Given the description of an element on the screen output the (x, y) to click on. 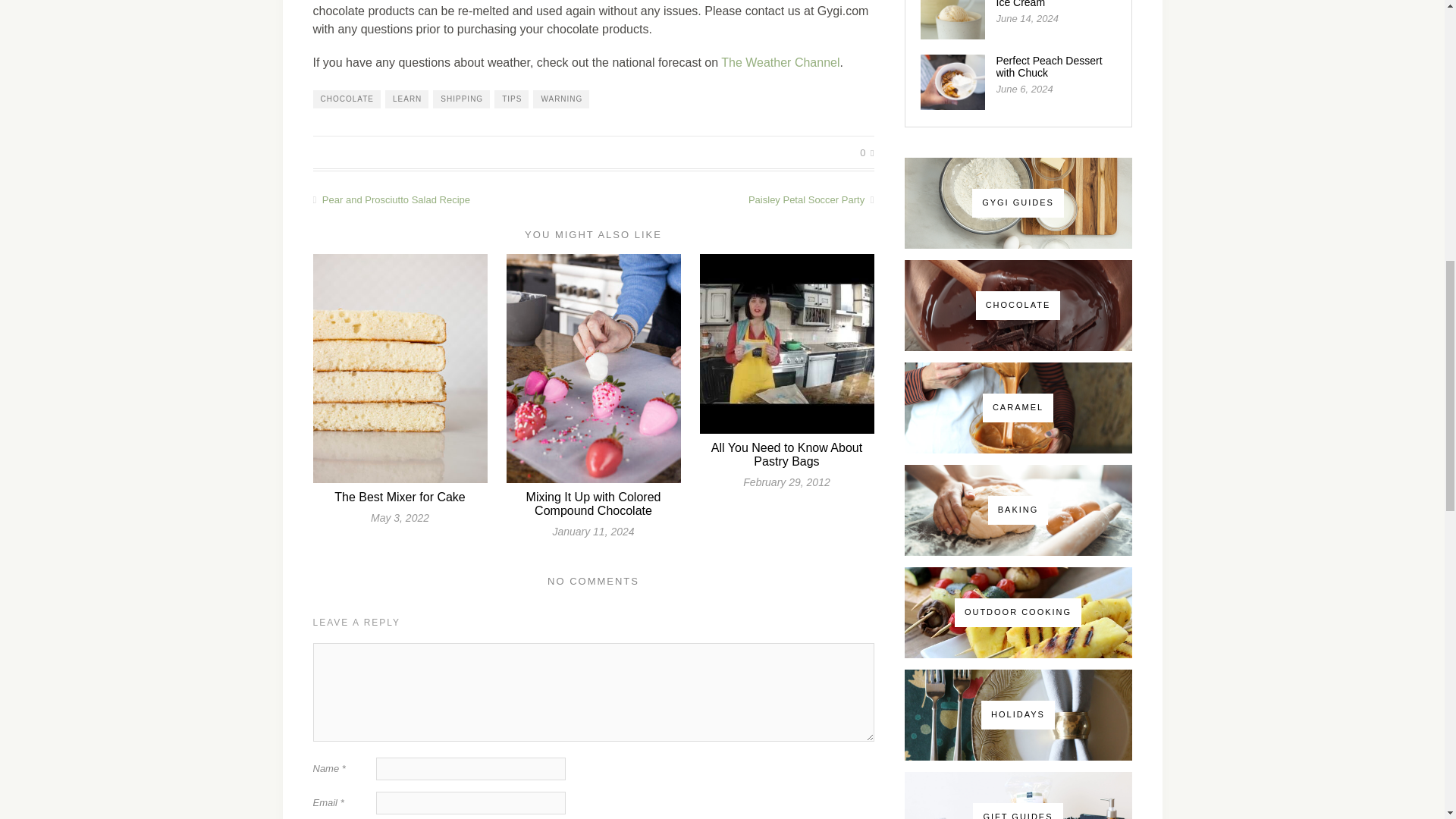
CHOCOLATE (346, 99)
0 (866, 152)
SHIPPING (460, 99)
WARNING (560, 99)
Perfect Peach Dessert with Chuck (1048, 66)
All You Need to Know About Pastry Bags (786, 454)
Mastering Homemade Ice Cream (1047, 4)
Paisley Petal Soccer Party (732, 199)
Mixing It Up with Colored Compound Chocolate (593, 503)
The Best Mixer for Cake (399, 496)
